Given the description of an element on the screen output the (x, y) to click on. 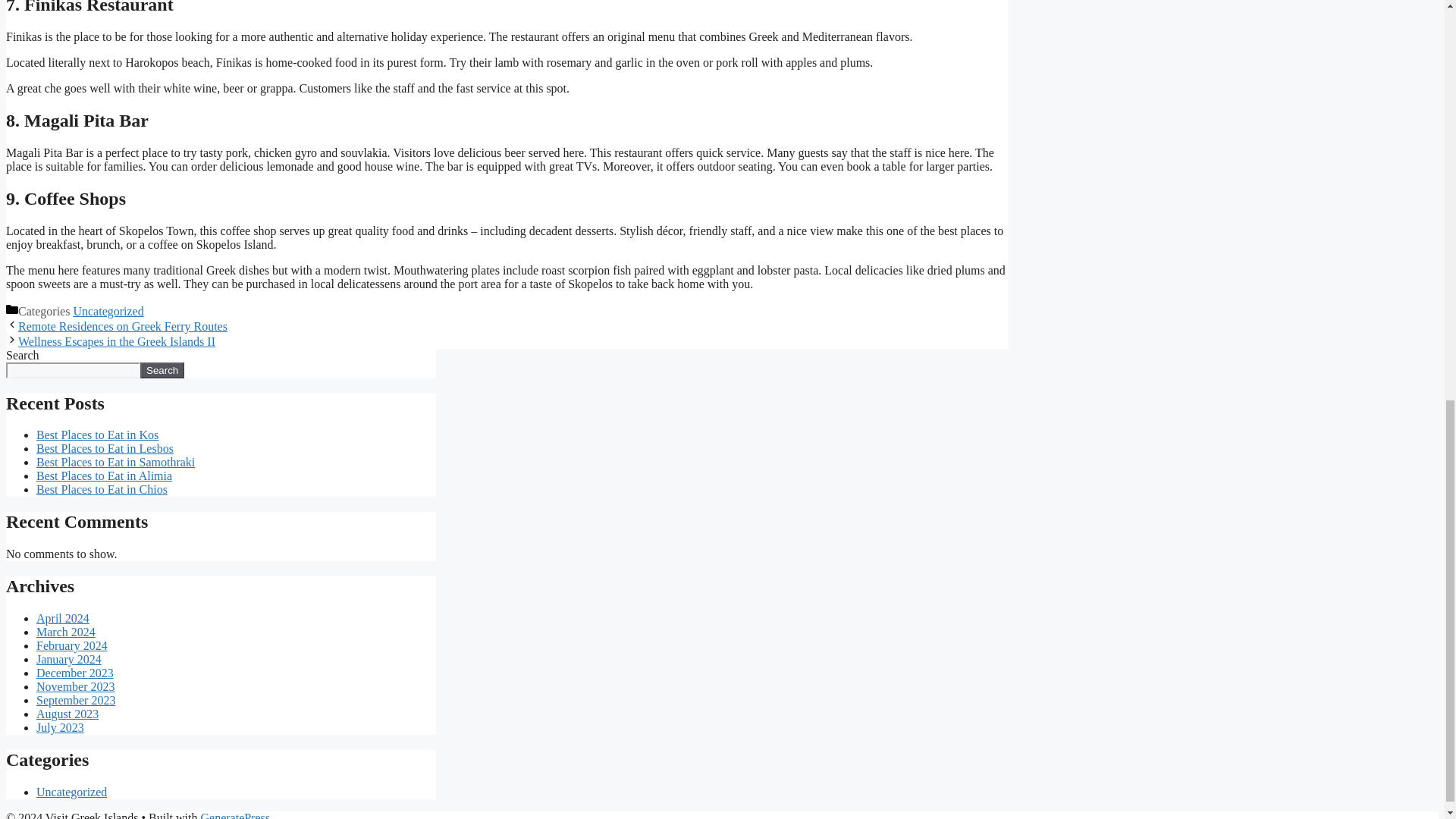
November 2023 (75, 686)
Best Places to Eat in Chios (101, 489)
Search (161, 370)
Best Places to Eat in Alimia (103, 475)
Best Places to Eat in Kos (97, 434)
December 2023 (74, 672)
March 2024 (66, 631)
Wellness Escapes in the Greek Islands II (116, 341)
August 2023 (67, 713)
Best Places to Eat in Samothraki (115, 461)
July 2023 (60, 727)
Uncategorized (107, 310)
February 2024 (71, 645)
September 2023 (75, 699)
January 2024 (68, 658)
